Given the description of an element on the screen output the (x, y) to click on. 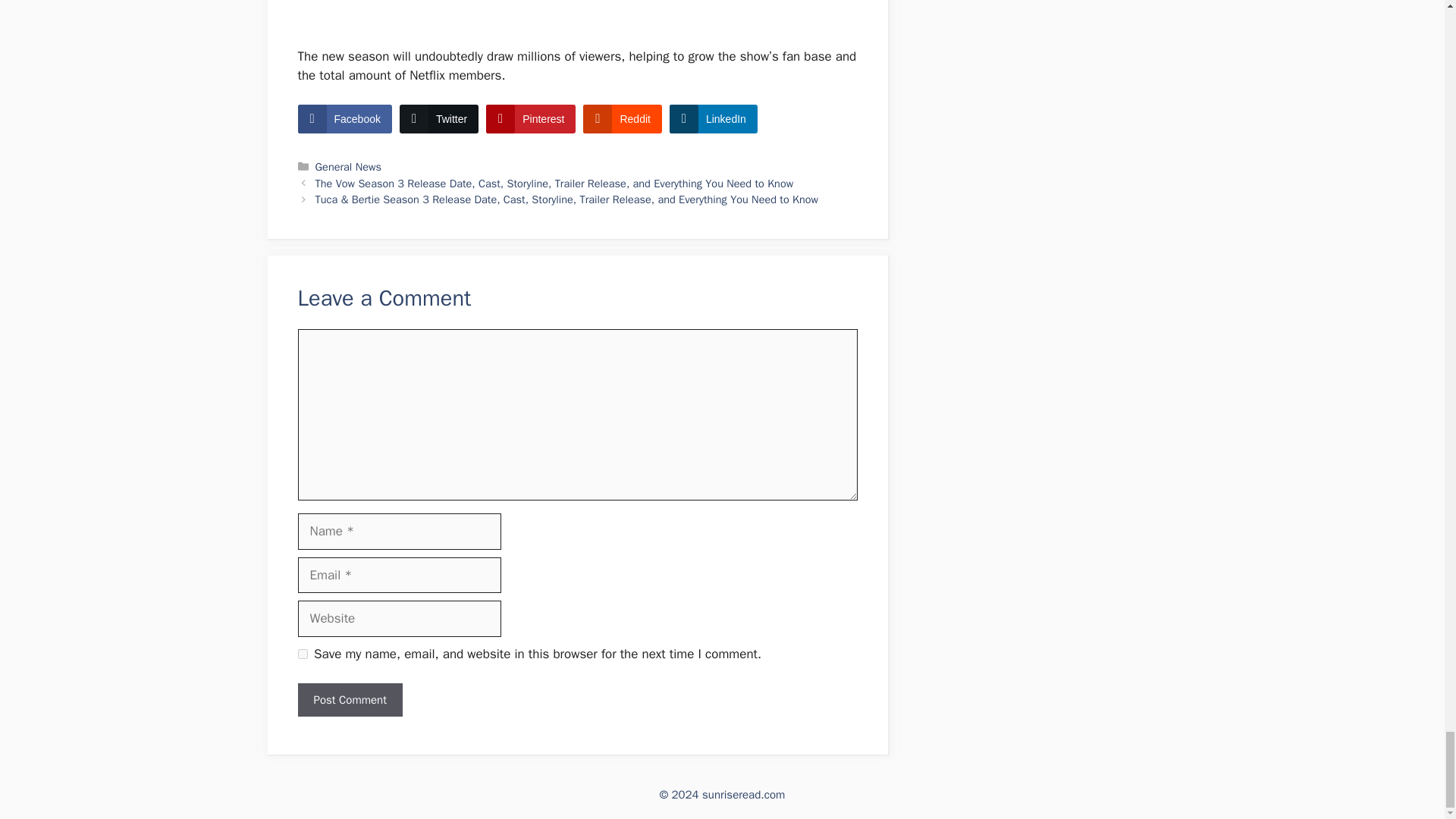
Post Comment (349, 700)
General News (348, 166)
LinkedIn (713, 118)
yes (302, 654)
Reddit (622, 118)
Twitter (438, 118)
Facebook (344, 118)
Pinterest (530, 118)
